Given the description of an element on the screen output the (x, y) to click on. 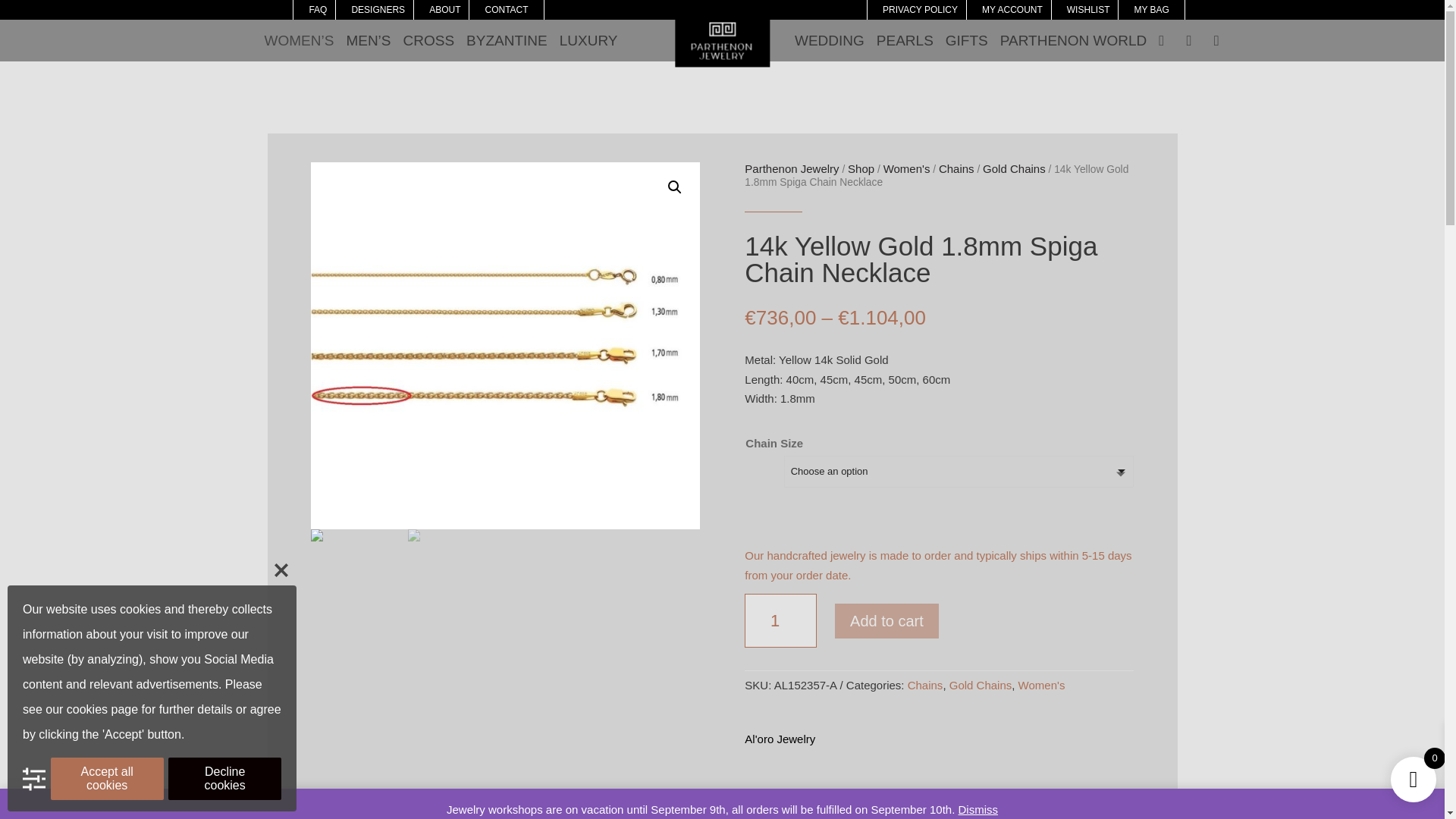
ABOUT (444, 11)
FAQ (317, 11)
CONTACT (505, 11)
WISHLIST (1088, 11)
Open cookie settings (34, 778)
DESIGNERS (377, 11)
MY BAG (1151, 11)
MY ACCOUNT (1011, 11)
1 (780, 620)
PRIVACY POLICY (920, 11)
